Given the description of an element on the screen output the (x, y) to click on. 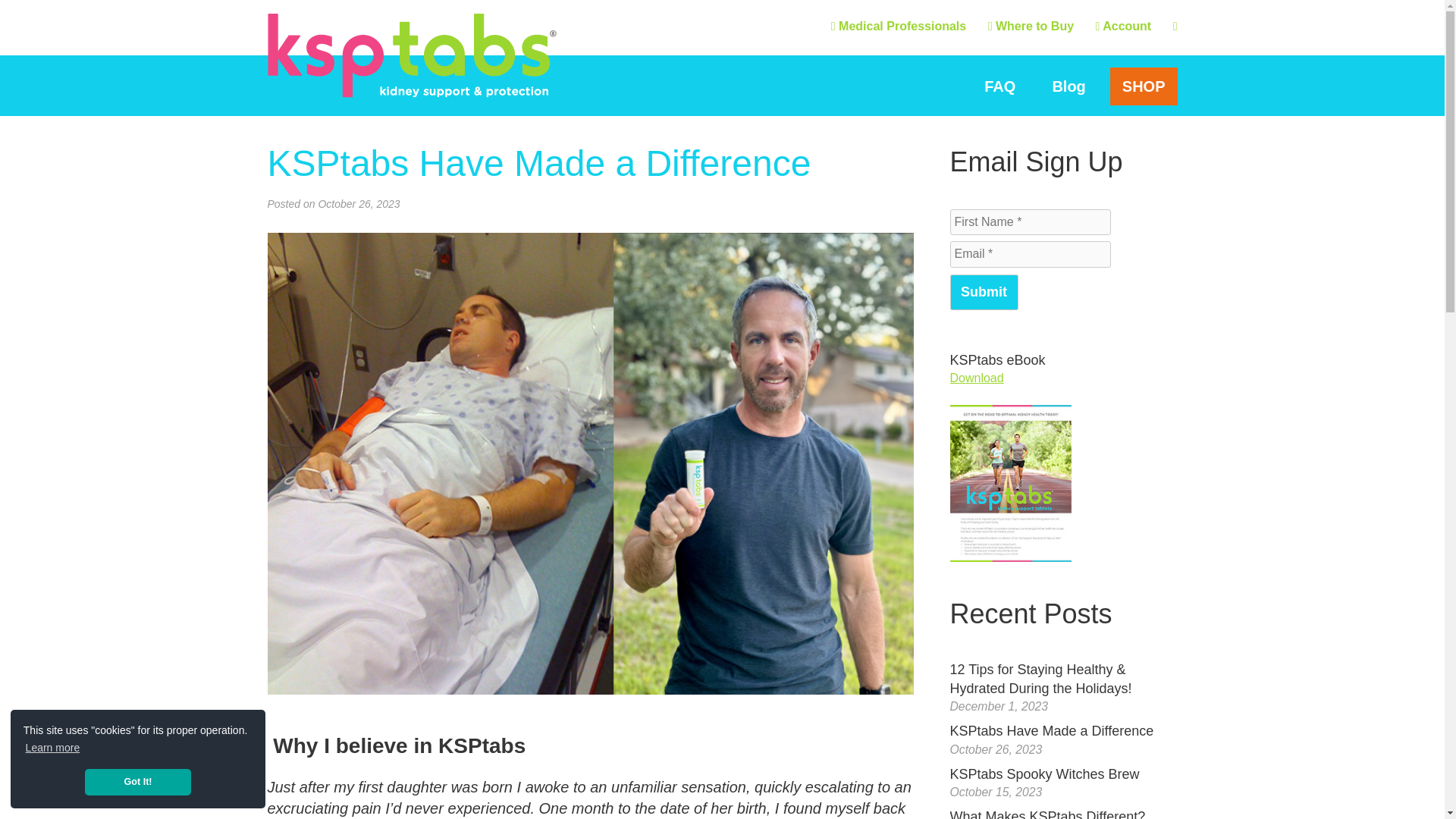
My Account (1122, 25)
Where to Buy (1031, 25)
KSPtabs Have Made a Difference (1051, 730)
Account (1122, 25)
SHOP (1143, 86)
Download (976, 377)
Medical Professionals (898, 25)
Where to Buy (1031, 25)
Got It! (137, 782)
FAQ (999, 86)
What Makes KSPtabs Different? (1046, 814)
Medical Professionals (898, 25)
Learn more (52, 748)
KSPtabs Spooky Witches Brew (1043, 774)
Blog (1068, 86)
